Given the description of an element on the screen output the (x, y) to click on. 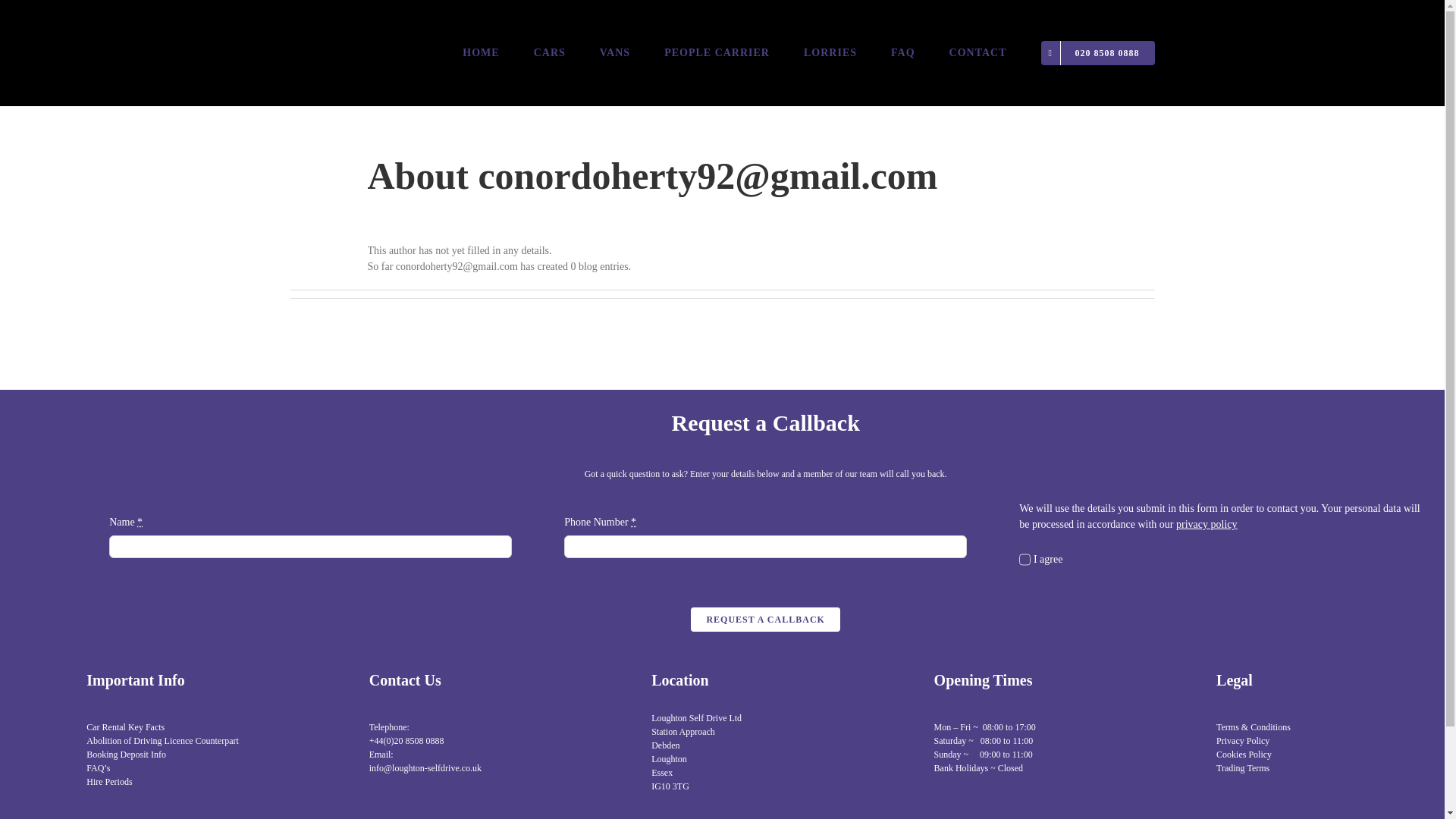
Hire Periods (108, 781)
PEOPLE CARRIER (716, 53)
Cookies Policy (1243, 754)
REQUEST A CALLBACK (765, 619)
Privacy Policy (1242, 740)
Booking Deposit Info (125, 754)
Trading Terms (1242, 767)
Car Rental Key Facts (124, 726)
Abolition of Driving Licence Counterpart (161, 740)
privacy policy (1206, 523)
020 8508 0888 (1097, 53)
